Given the description of an element on the screen output the (x, y) to click on. 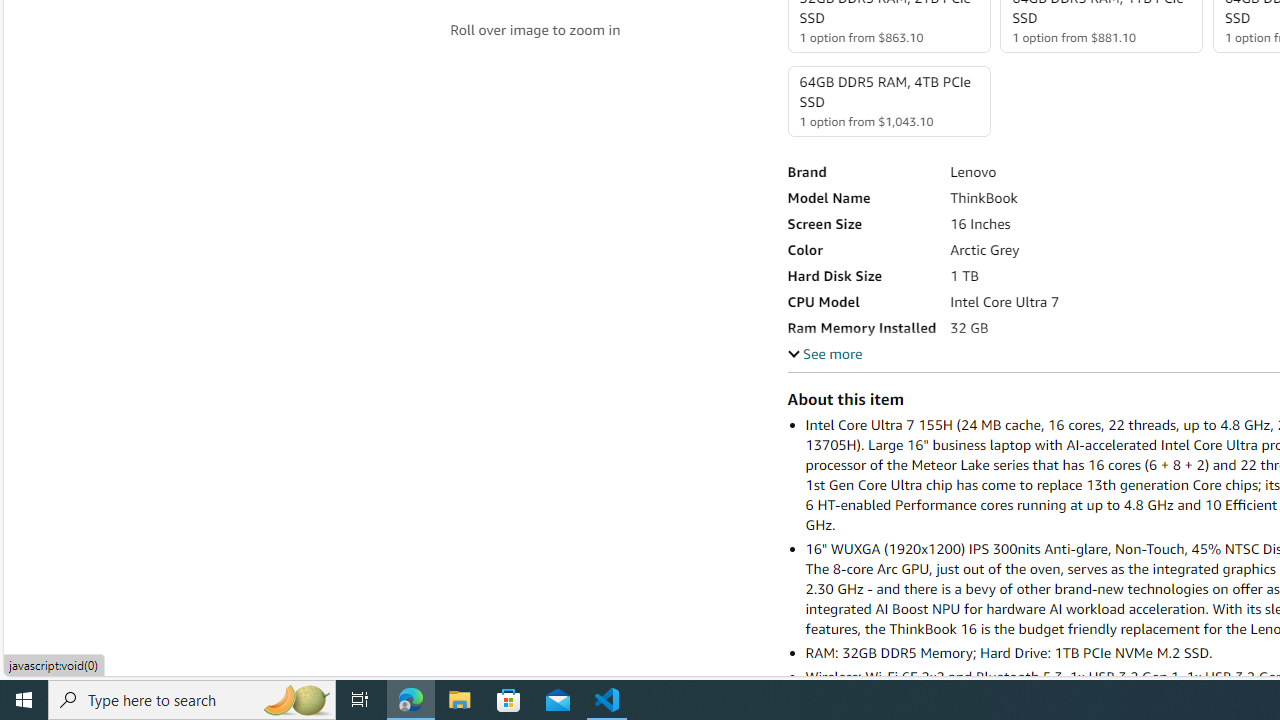
64GB DDR5 RAM, 4TB PCIe SSD 1 option from $1,043.10 (888, 101)
